Given the description of an element on the screen output the (x, y) to click on. 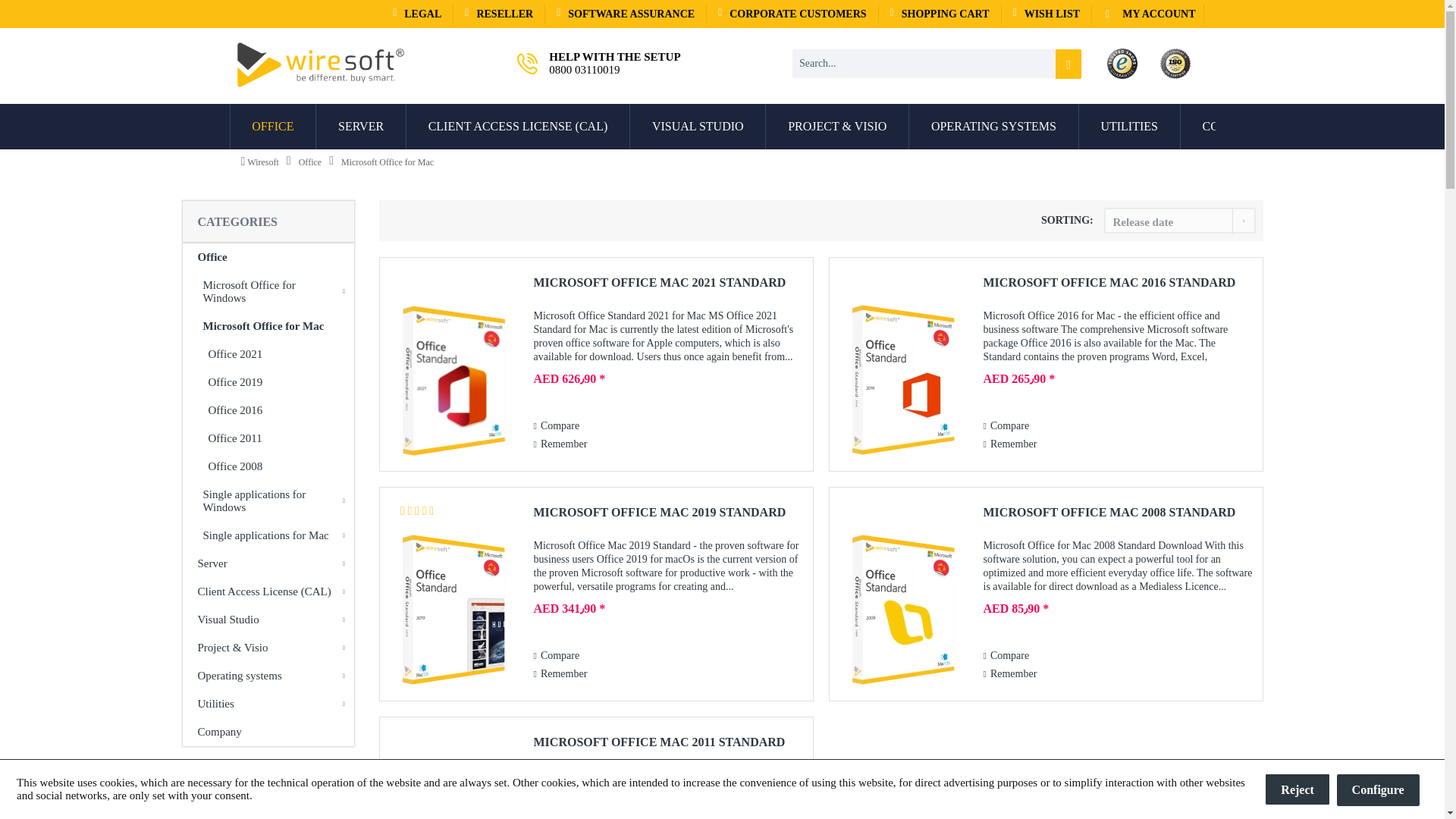
UTILITIES (1129, 126)
shopping cart (939, 13)
COMPANY (1232, 126)
UTILITIES (1128, 126)
Customer account (1148, 13)
OFFICE (271, 126)
VISUAL STUDIO (697, 126)
VISUAL STUDIO (697, 126)
Wish list (1046, 13)
Visual Studio (697, 126)
LEGAL (417, 13)
SERVER (360, 126)
Office (272, 126)
SOFTWARE ASSURANCE (625, 13)
Server (360, 126)
